Given the description of an element on the screen output the (x, y) to click on. 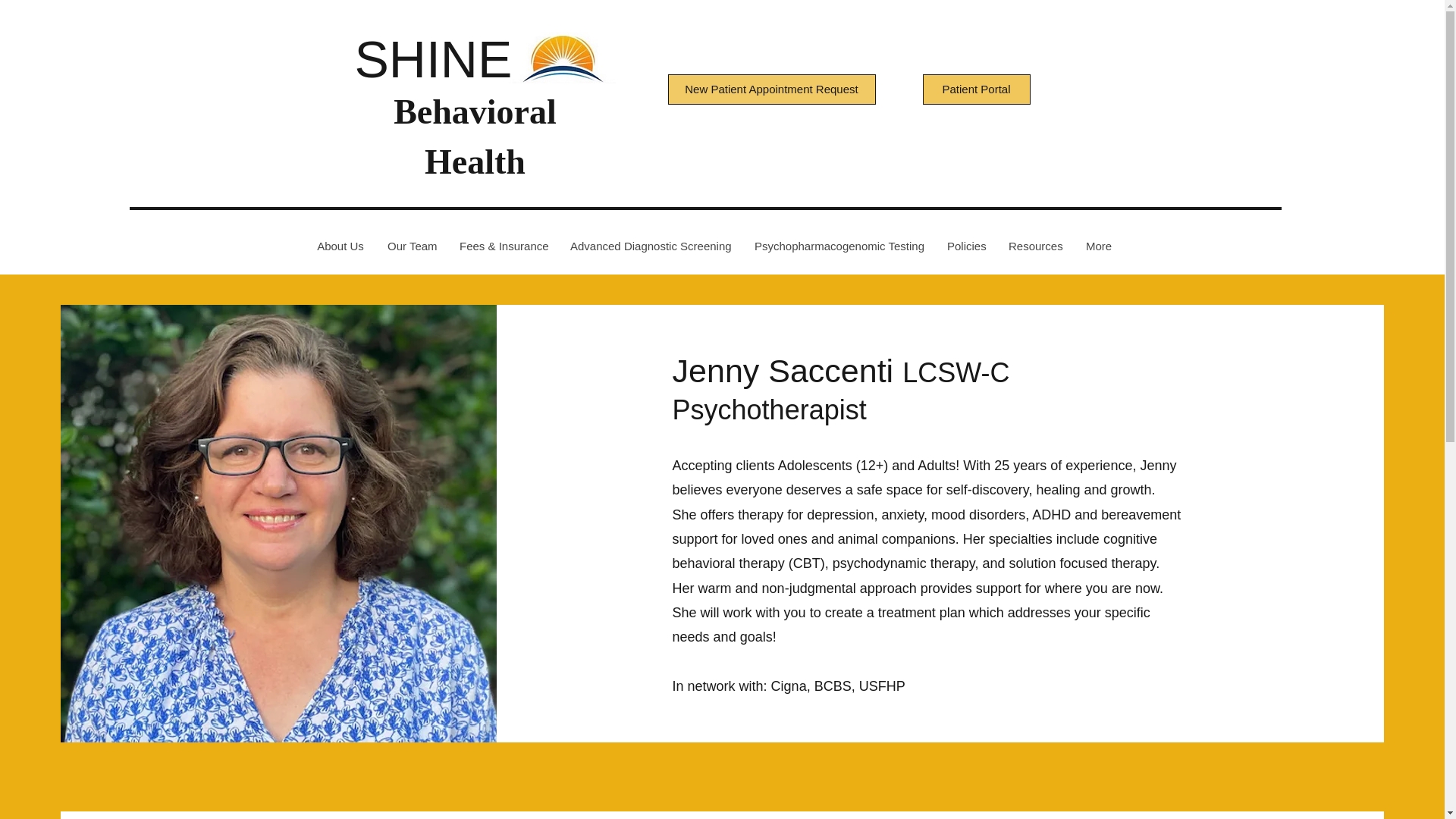
New Patient Appointment Request (770, 89)
Patient Portal (975, 89)
Behavioral Health (474, 136)
Psychopharmacogenomic Testing (838, 246)
About Us (339, 246)
Our Team (410, 246)
Resources (1034, 246)
Policies (964, 246)
Advanced Diagnostic Screening (649, 246)
